Given the description of an element on the screen output the (x, y) to click on. 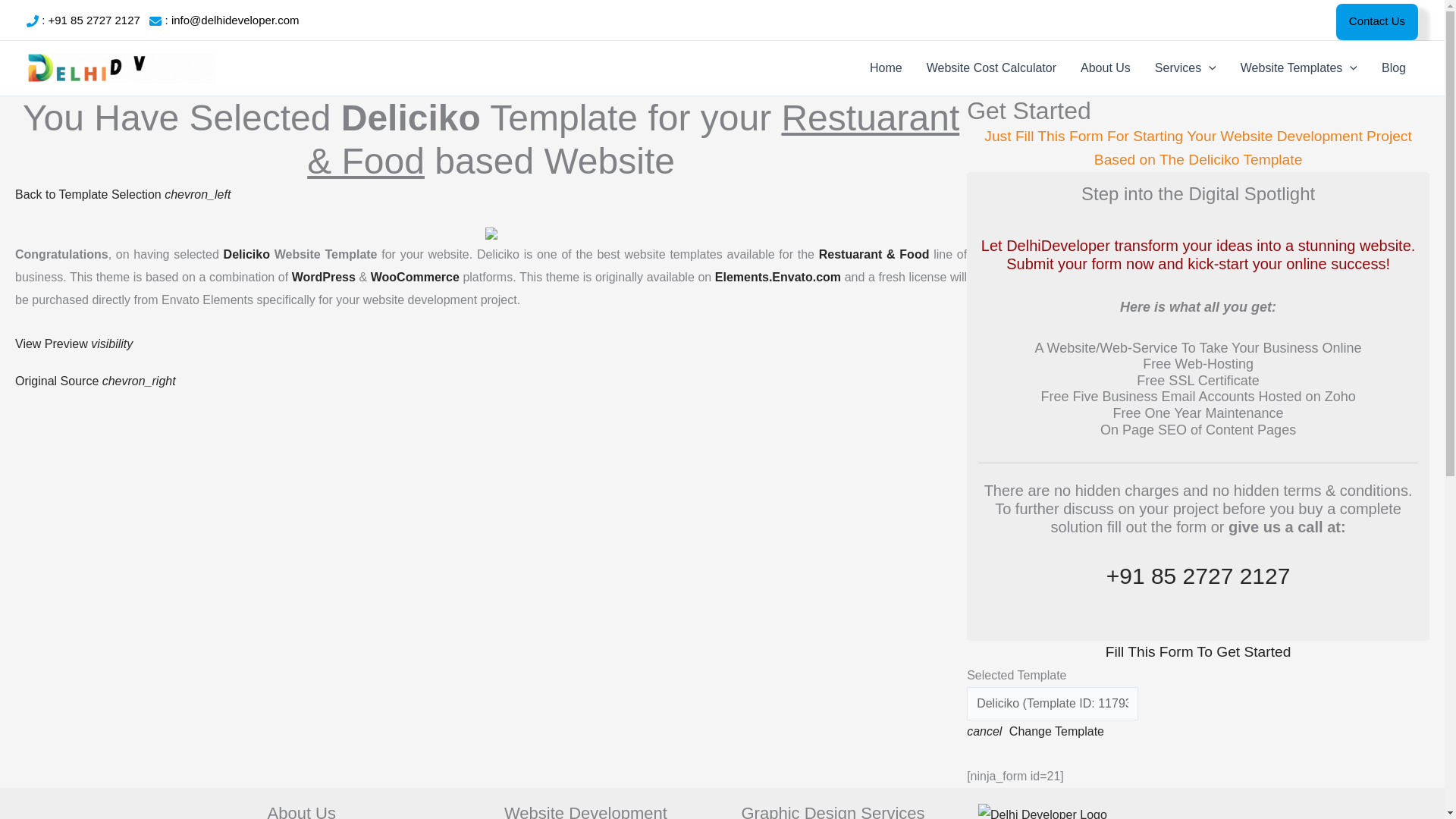
Contact Us (1377, 22)
Website Cost Calculator (991, 68)
Services (1185, 68)
Home (885, 68)
Website Templates (1299, 68)
About Us (1105, 68)
Blog (1394, 68)
